Given the description of an element on the screen output the (x, y) to click on. 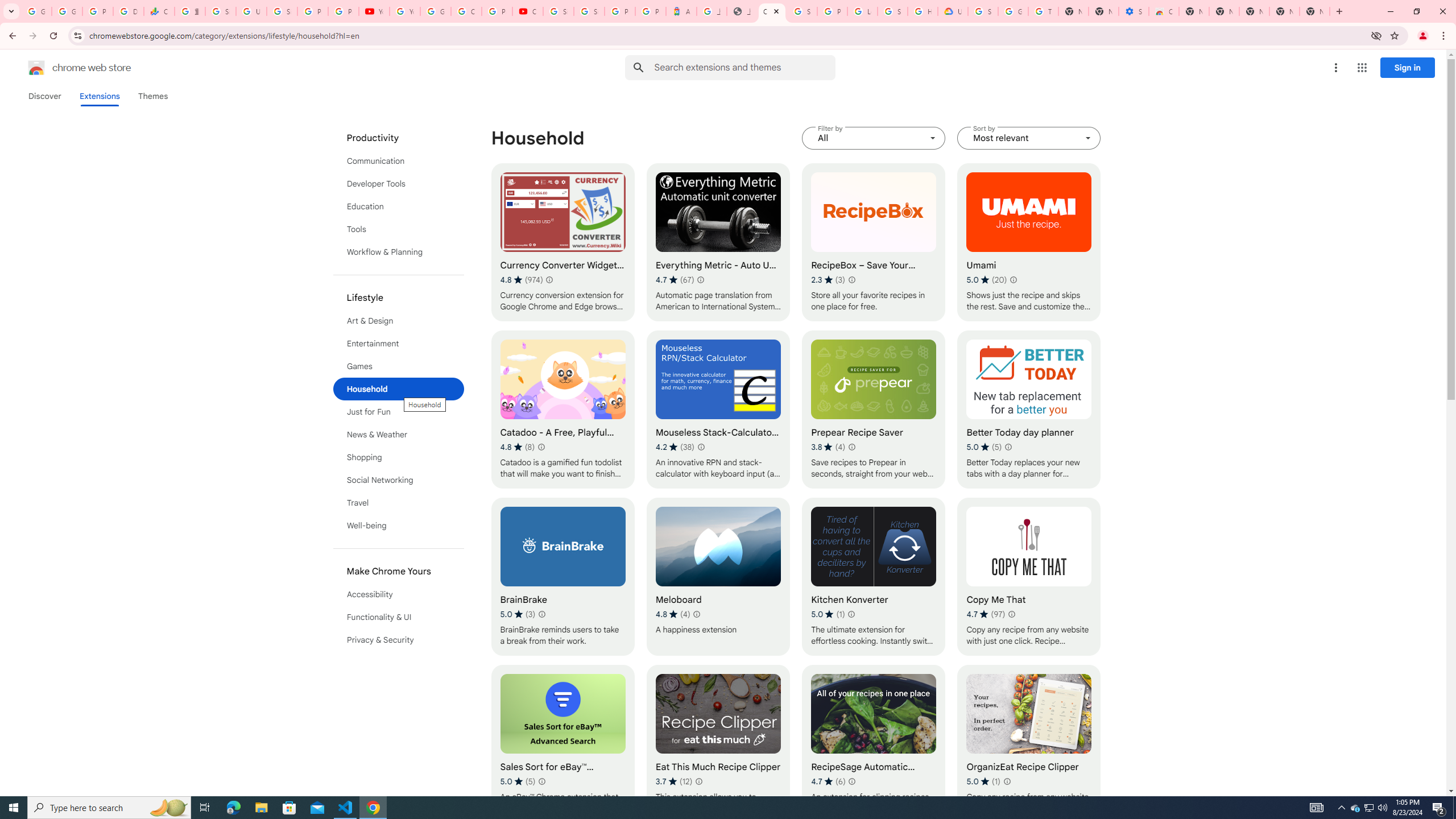
Atour Hotel - Google hotels (681, 11)
Average rating 4.8 out of 5 stars. 974 ratings. (521, 279)
Average rating 4.8 out of 5 stars. 4 ratings. (672, 613)
Average rating 4.7 out of 5 stars. 6 ratings. (827, 781)
Average rating 5 out of 5 stars. 20 ratings. (986, 279)
Everything Metric - Auto Unit Converter (718, 241)
Turn cookies on or off - Computer - Google Account Help (1042, 11)
Average rating 5 out of 5 stars. 3 ratings. (517, 613)
